Given the description of an element on the screen output the (x, y) to click on. 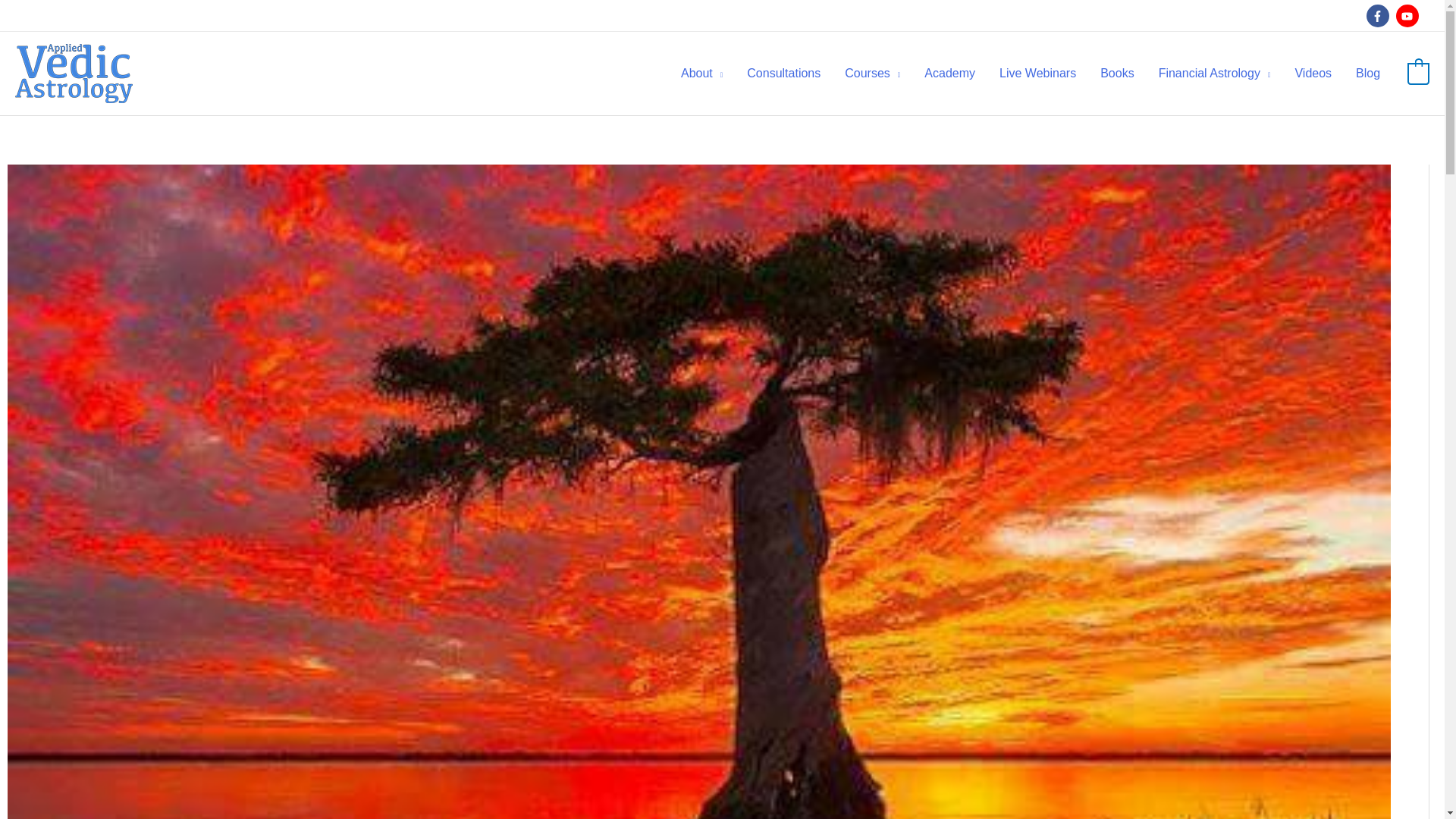
Academy (949, 72)
Live Webinars (1037, 72)
Courses (872, 72)
0 (1418, 72)
Videos (1312, 72)
Financial Astrology (1214, 72)
Consultations (783, 72)
About (701, 72)
Books (1116, 72)
Blog (1367, 72)
